Given the description of an element on the screen output the (x, y) to click on. 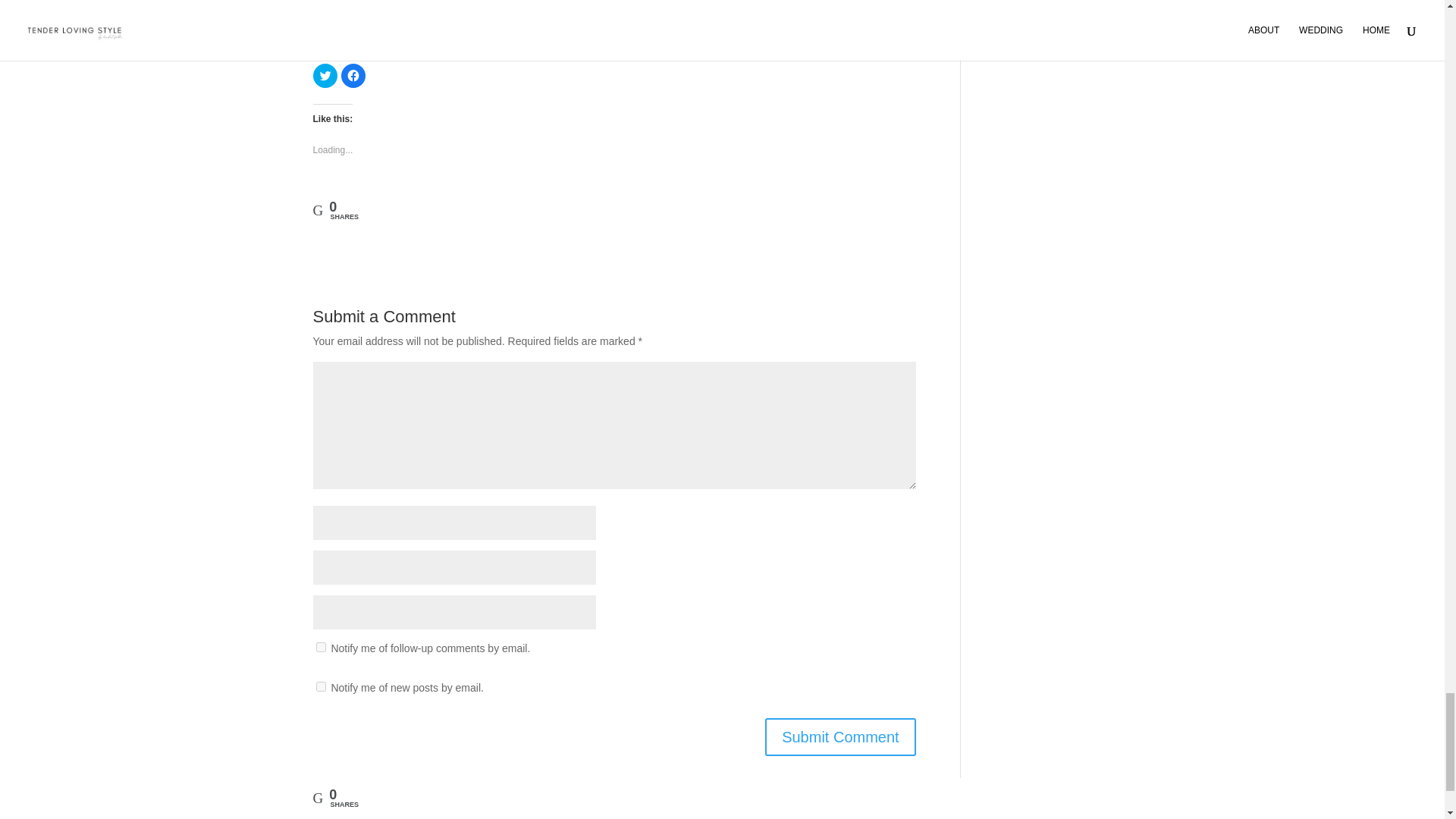
Submit Comment (840, 736)
Click to share on Facebook (352, 75)
subscribe (319, 686)
subscribe (319, 646)
Submit Comment (840, 736)
Click to share on Twitter (324, 75)
